Given the description of an element on the screen output the (x, y) to click on. 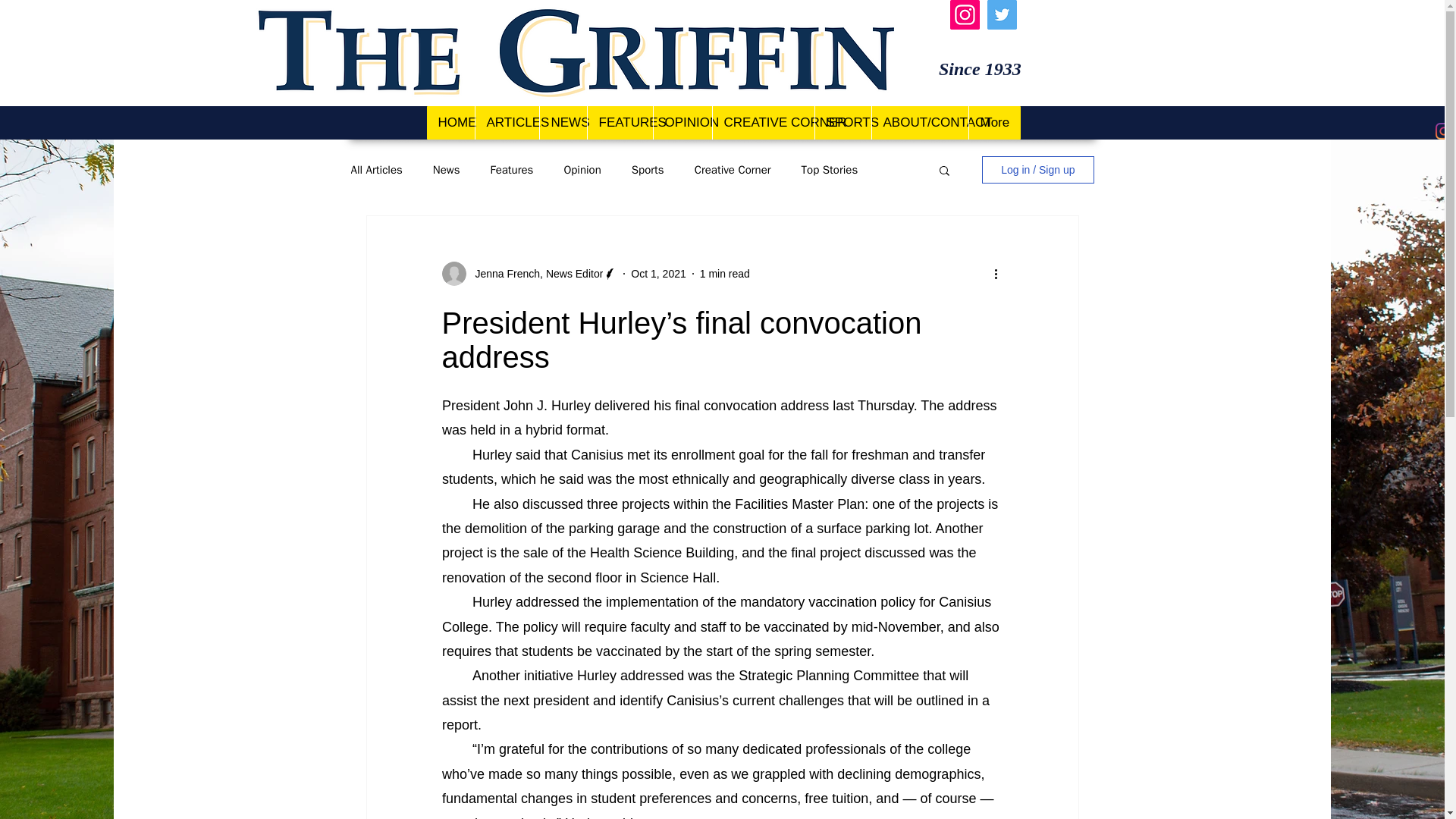
Creative Corner (732, 169)
SPORTS (841, 122)
NEWS (562, 122)
CREATIVE CORNER (762, 122)
1 min read (724, 272)
Features (510, 169)
All Articles (375, 169)
Opinion (581, 169)
News (446, 169)
OPINION (681, 122)
Sports (647, 169)
HOME (450, 122)
Jenna French, News Editor (533, 273)
Top Stories (830, 169)
FEATURES (619, 122)
